Given the description of an element on the screen output the (x, y) to click on. 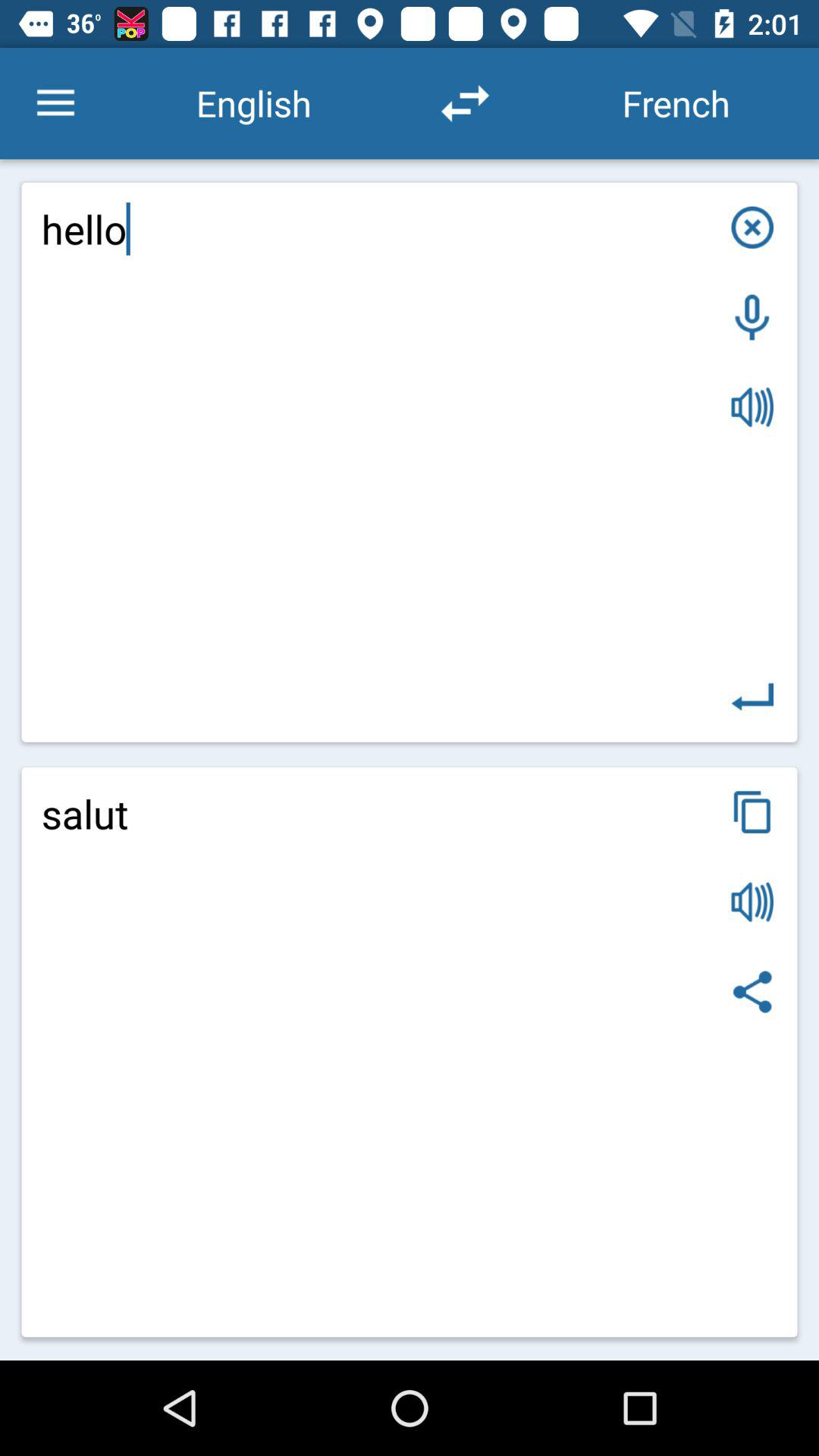
press item next to the english icon (55, 103)
